Given the description of an element on the screen output the (x, y) to click on. 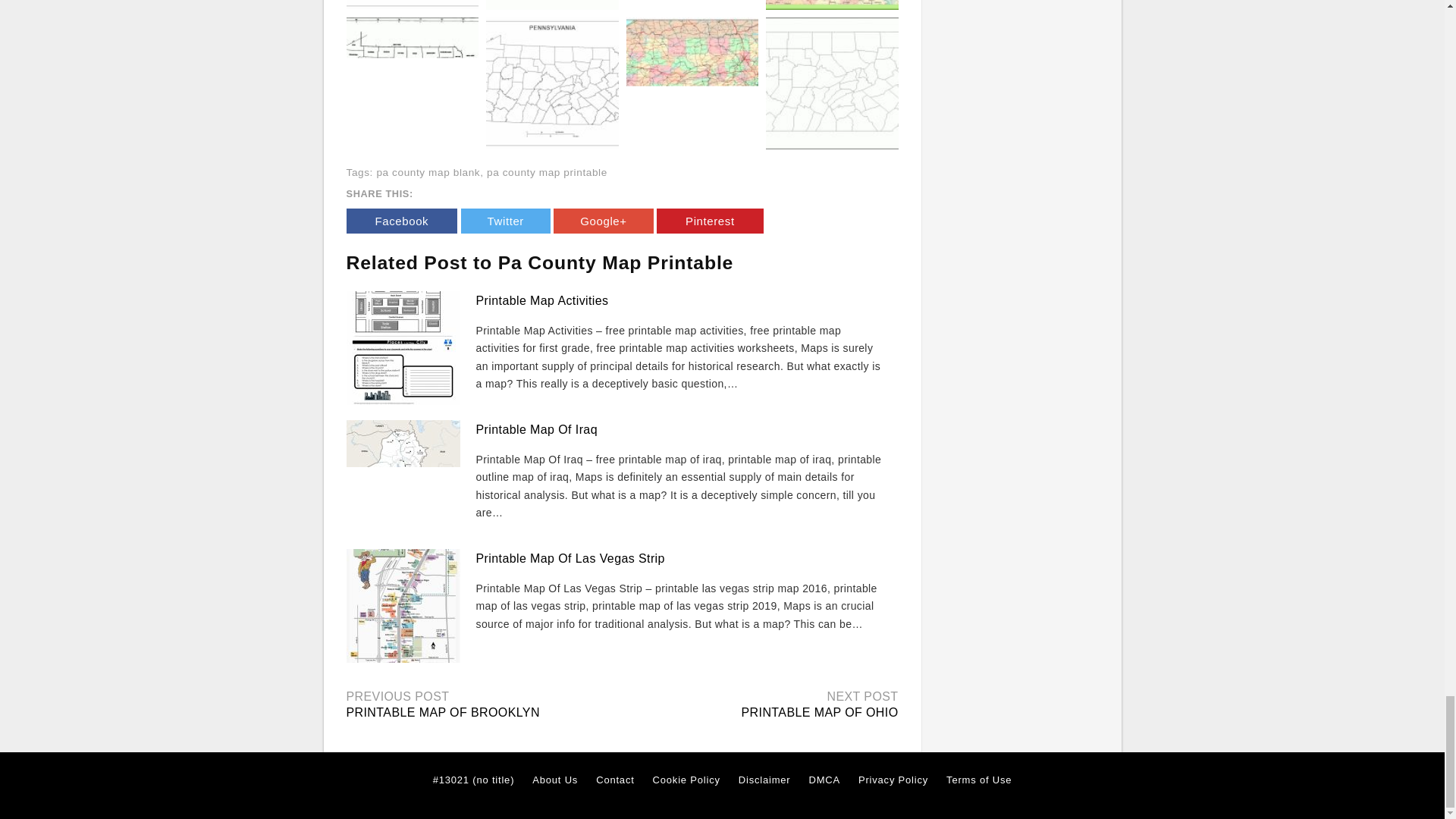
Pinterest (709, 220)
pa county map blank (427, 172)
Printable Map Of Las Vegas Strip (570, 558)
Pennsylvania Labeled Map For Pa County Map Printable (412, 4)
PRINTABLE MAP OF BROOKLYN (442, 712)
Twitter (505, 220)
pa county map printable (546, 172)
PRINTABLE MAP OF OHIO (819, 712)
Printable Map Activities (542, 300)
